Given the description of an element on the screen output the (x, y) to click on. 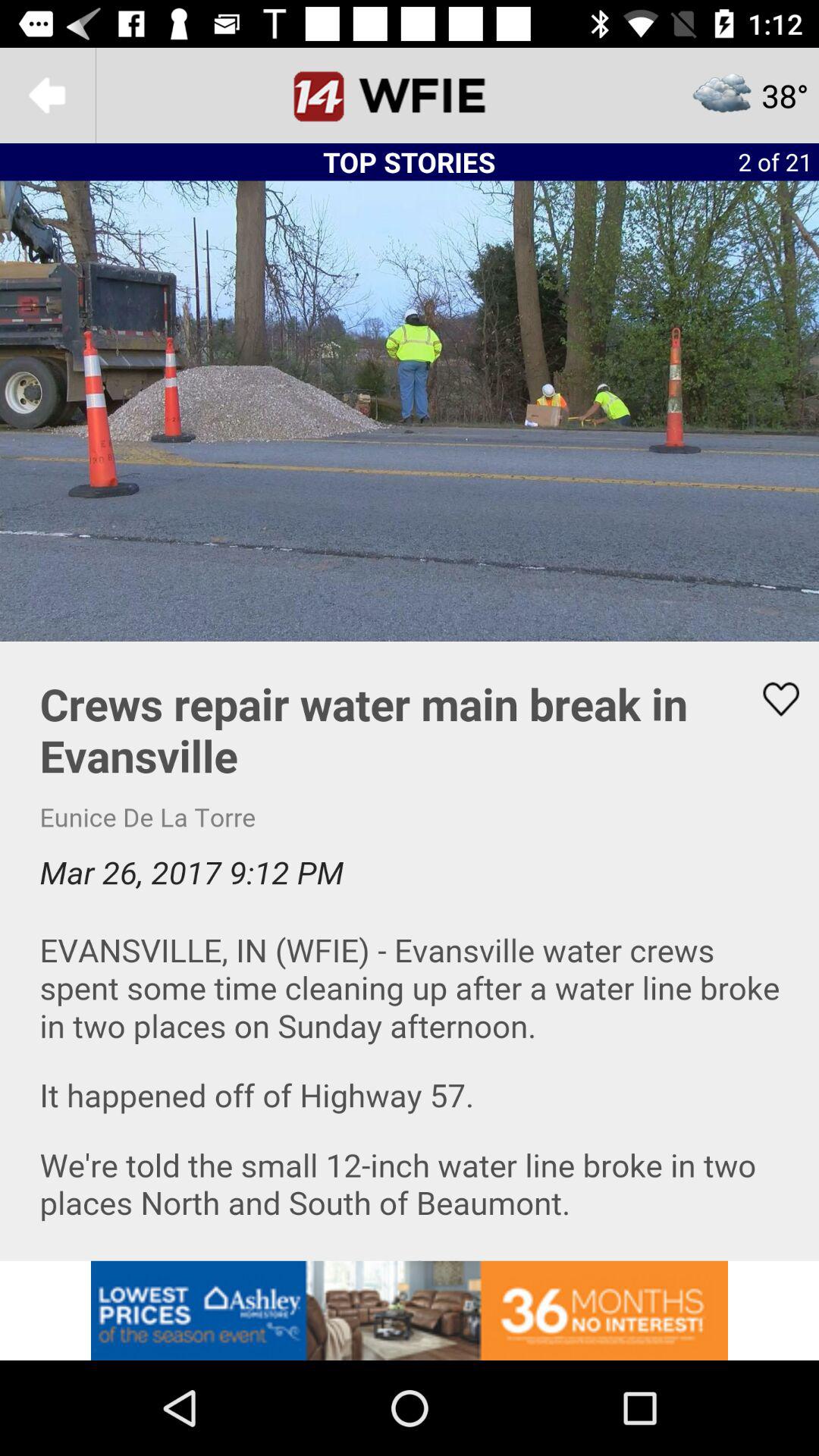
advertisement banner (409, 1310)
